Given the description of an element on the screen output the (x, y) to click on. 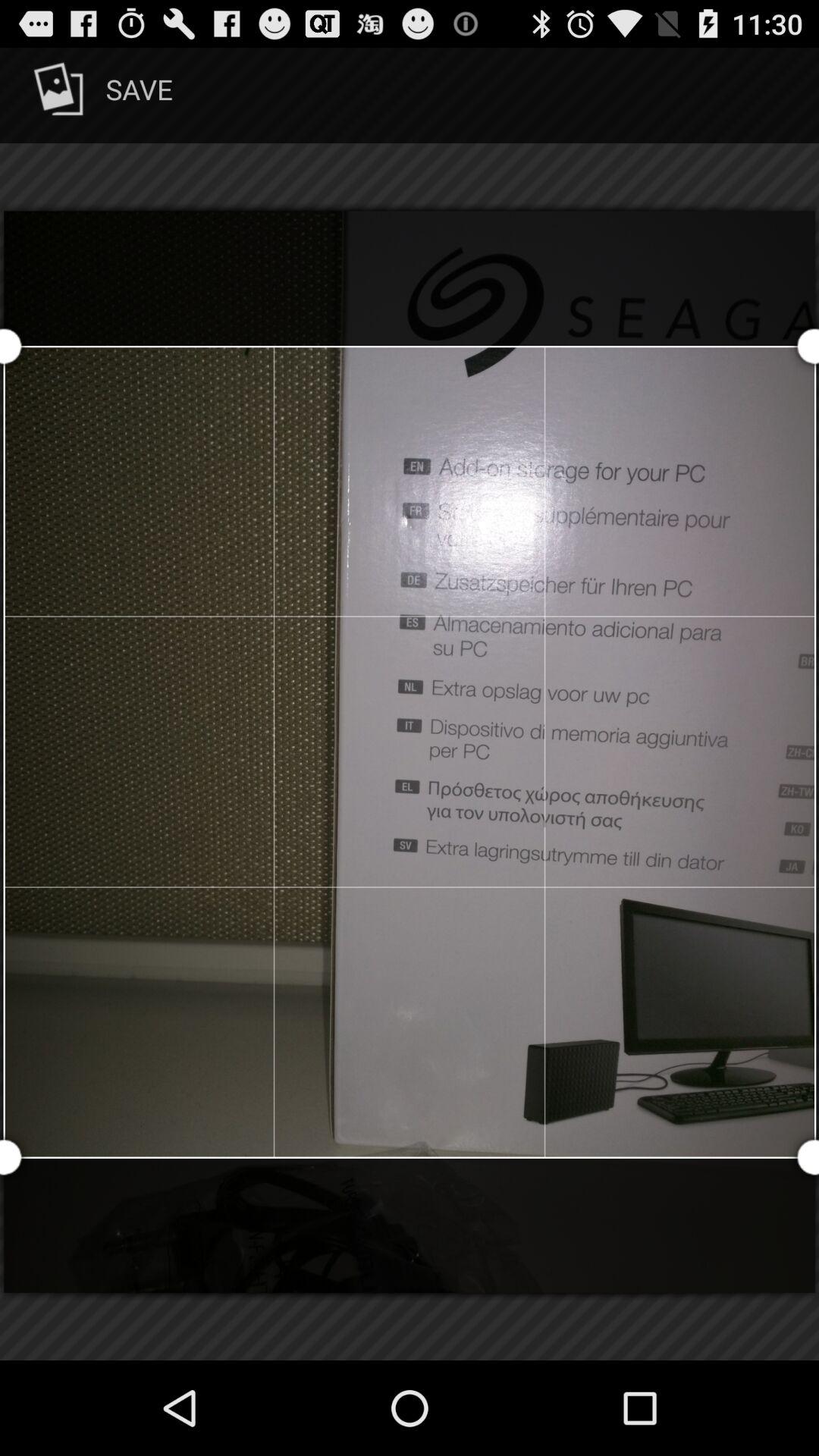
select item at the top left corner (100, 95)
